Given the description of an element on the screen output the (x, y) to click on. 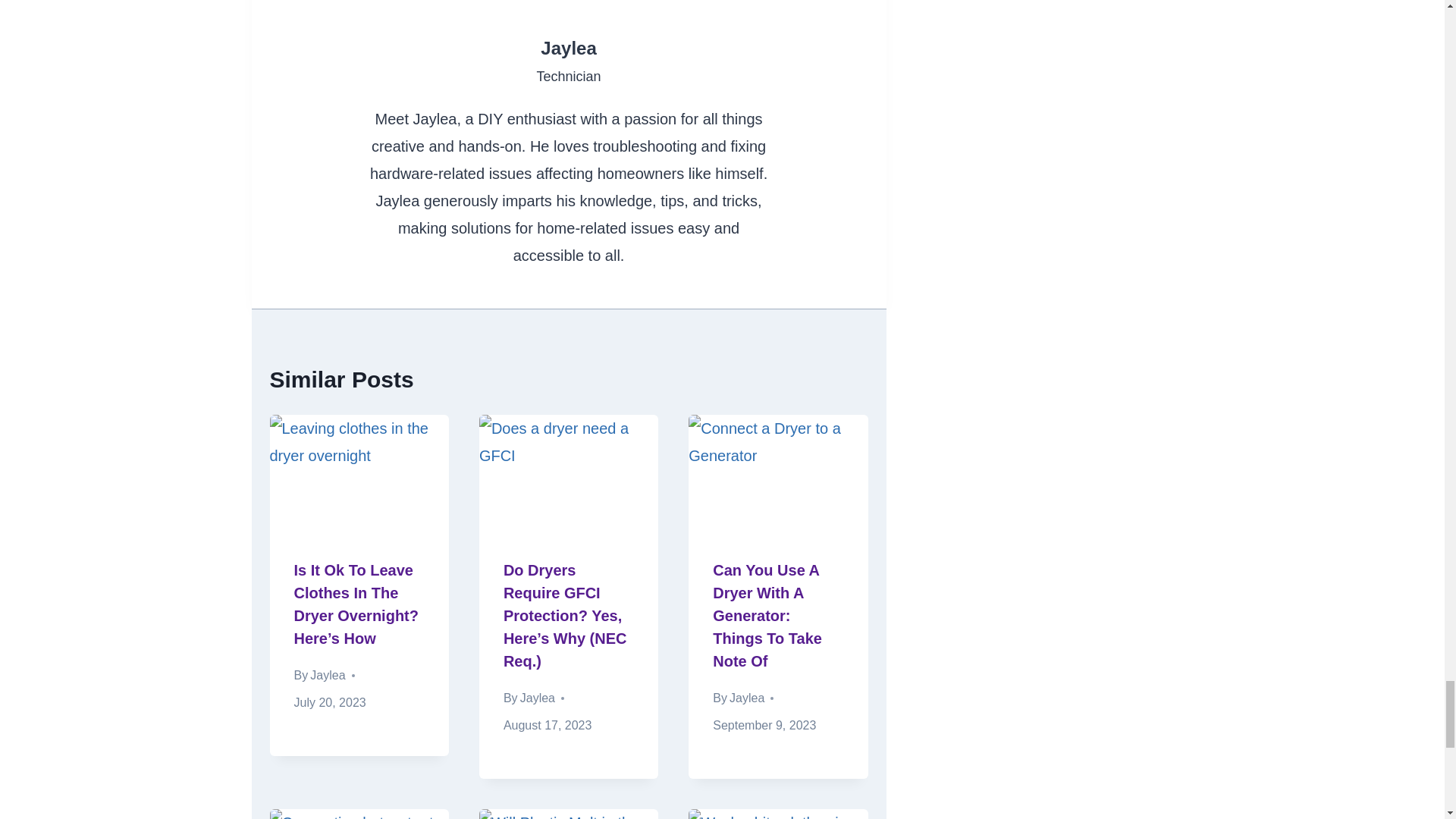
Jaylea (746, 697)
Can You Use A Dryer With A Generator: Things To Take Note Of (767, 615)
Posts by Jaylea (567, 47)
Jaylea (327, 675)
Jaylea (536, 697)
Jaylea (567, 47)
